Given the description of an element on the screen output the (x, y) to click on. 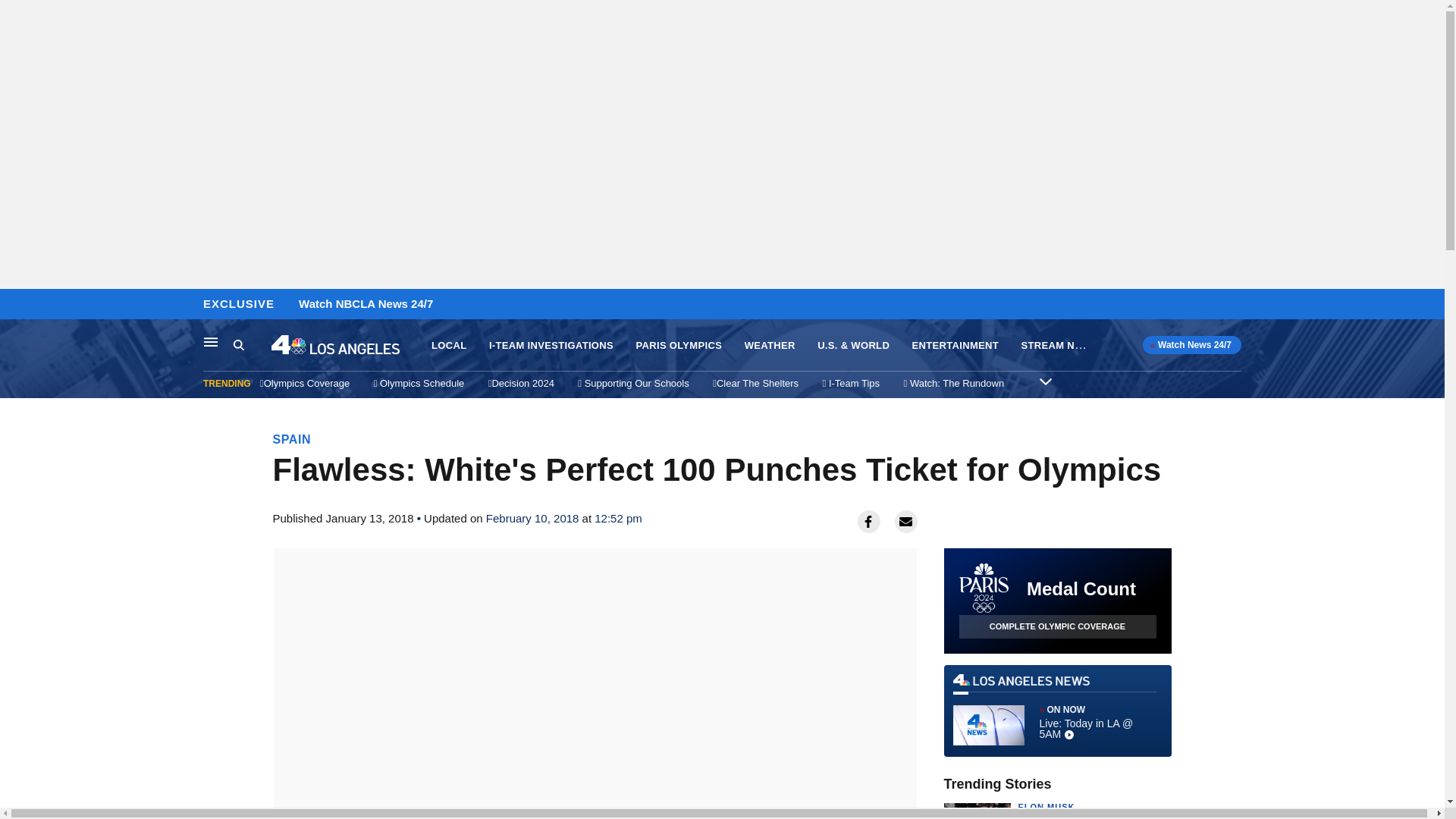
WEATHER (769, 345)
COMPLETE OLYMPIC COVERAGE (1057, 626)
ENTERTAINMENT (955, 345)
LOCAL (447, 345)
Main Navigation (210, 341)
SPAIN (292, 439)
Search (252, 345)
Expand (1045, 381)
I-TEAM INVESTIGATIONS (550, 345)
Search (238, 344)
